Given the description of an element on the screen output the (x, y) to click on. 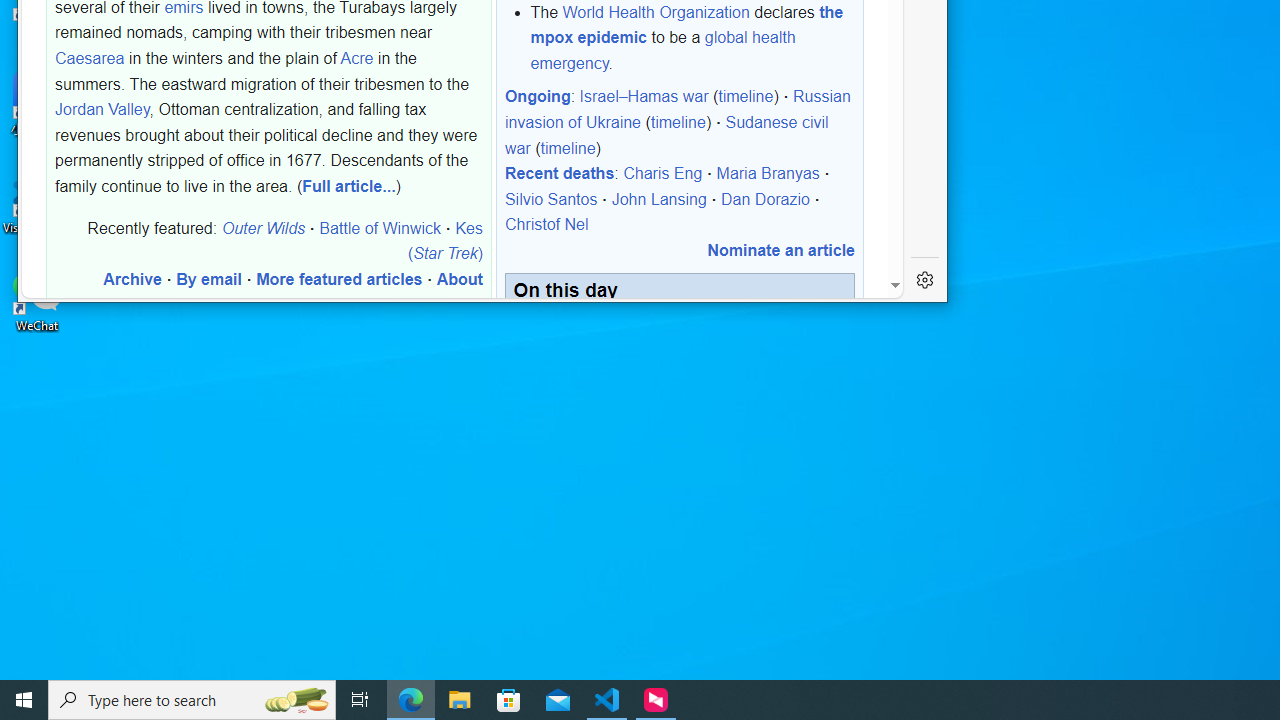
Recent deaths (559, 173)
Caesarea (90, 58)
global health emergency (662, 50)
Battle of Winwick (379, 227)
Russian invasion of Ukraine (677, 109)
(timeline) (568, 147)
